Given the description of an element on the screen output the (x, y) to click on. 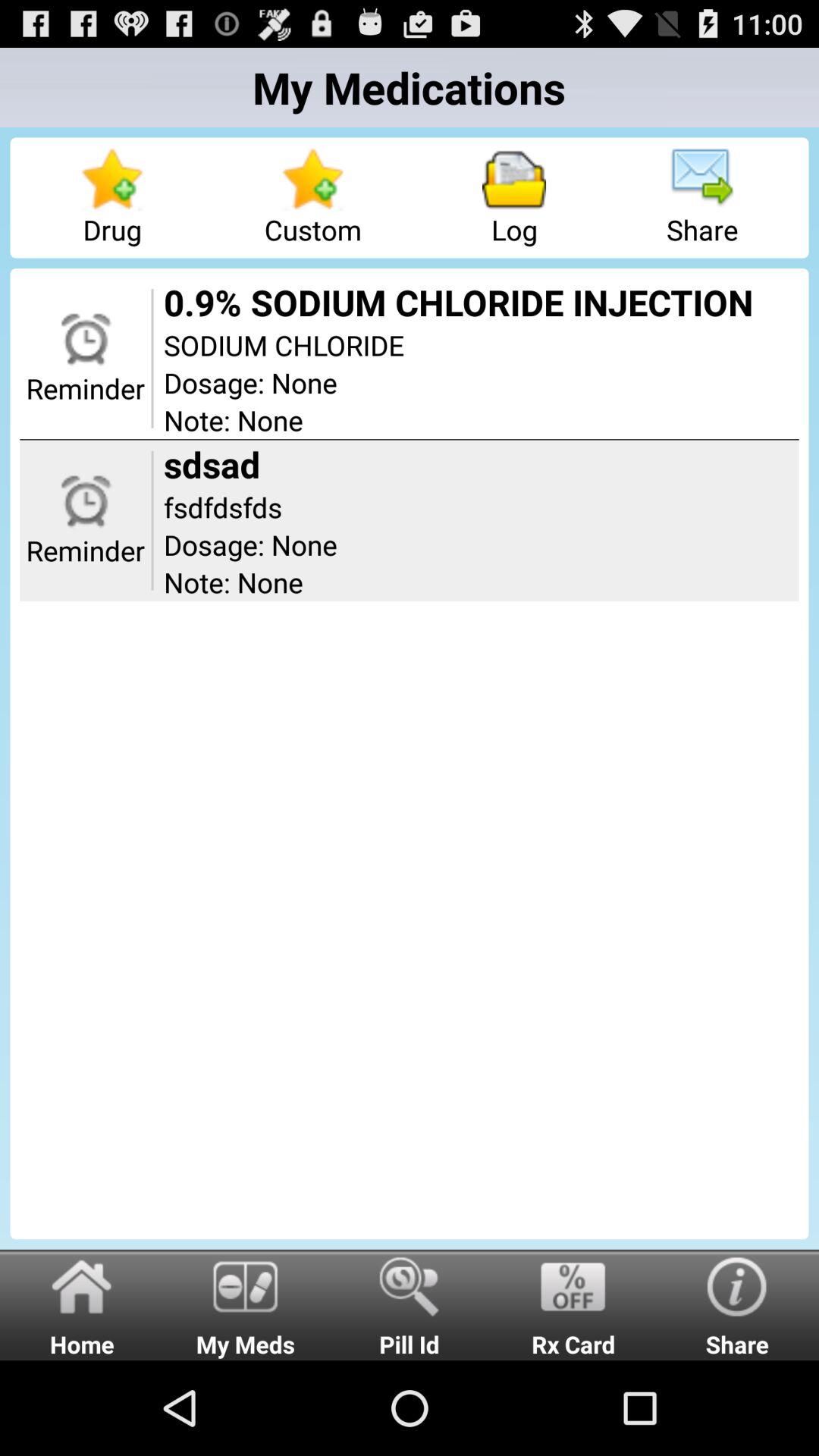
choose item to the left of rx card radio button (409, 1304)
